Given the description of an element on the screen output the (x, y) to click on. 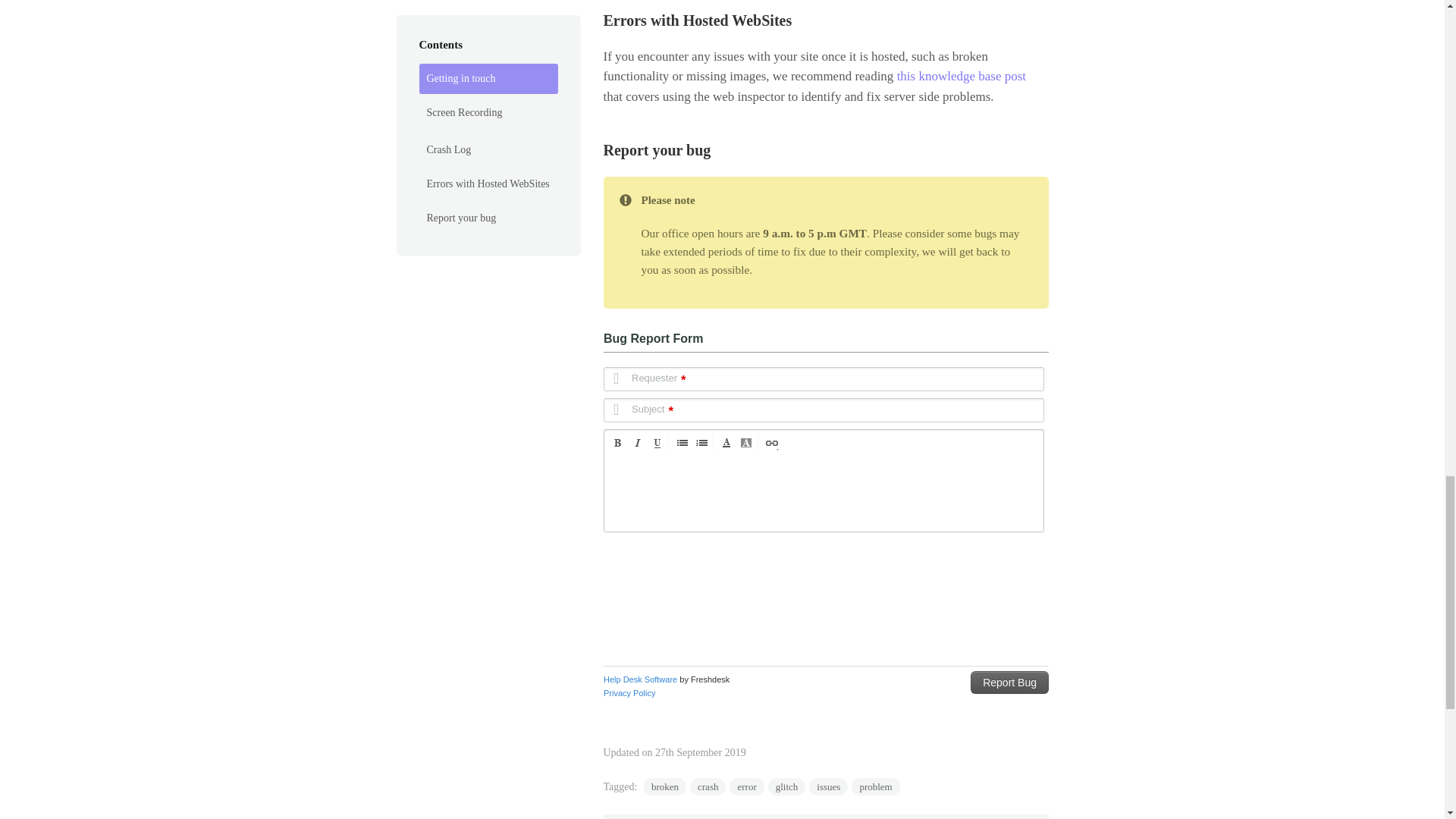
crash (707, 786)
this knowledge base post (961, 75)
issues (828, 786)
problem (875, 786)
error (745, 786)
broken (664, 786)
glitch (787, 786)
